Given the description of an element on the screen output the (x, y) to click on. 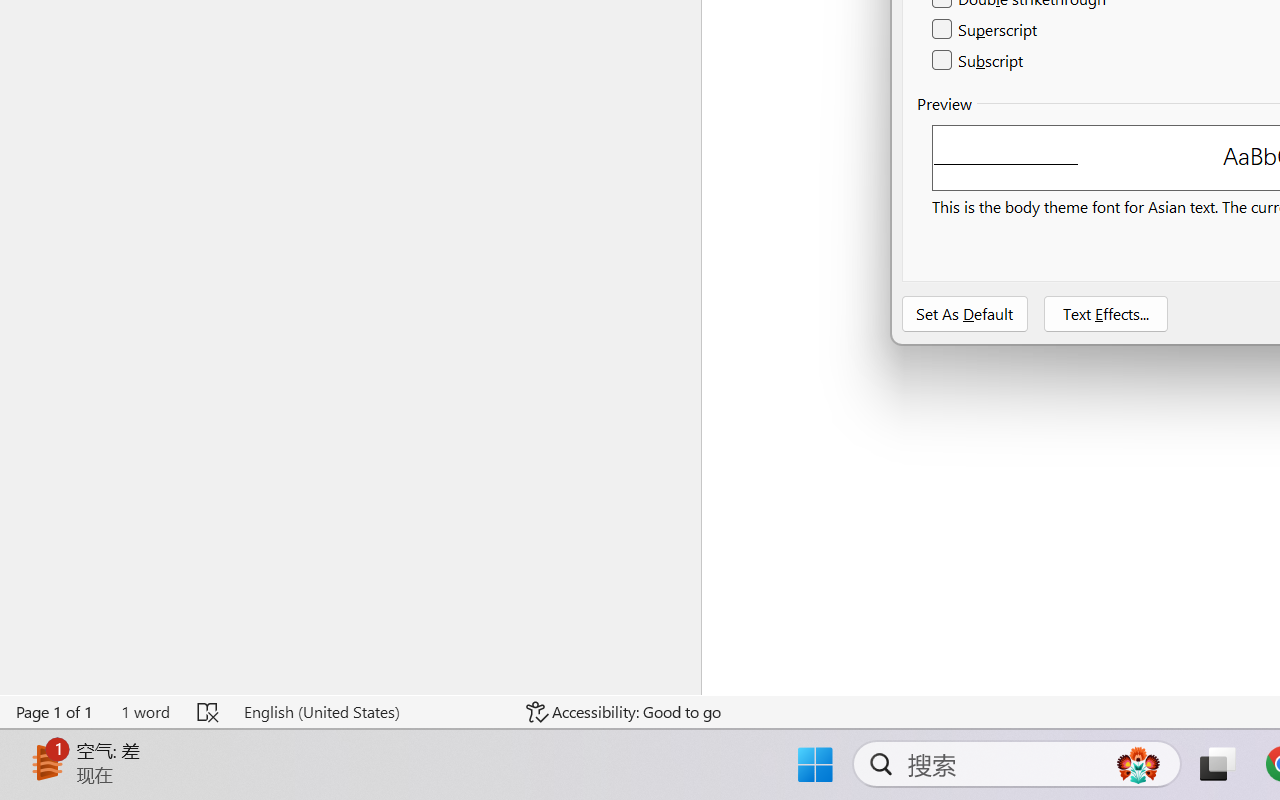
Spelling and Grammar Check Errors (208, 712)
Text Effects... (1105, 313)
Superscript (985, 29)
Subscript (978, 60)
Set As Default (965, 313)
